Given the description of an element on the screen output the (x, y) to click on. 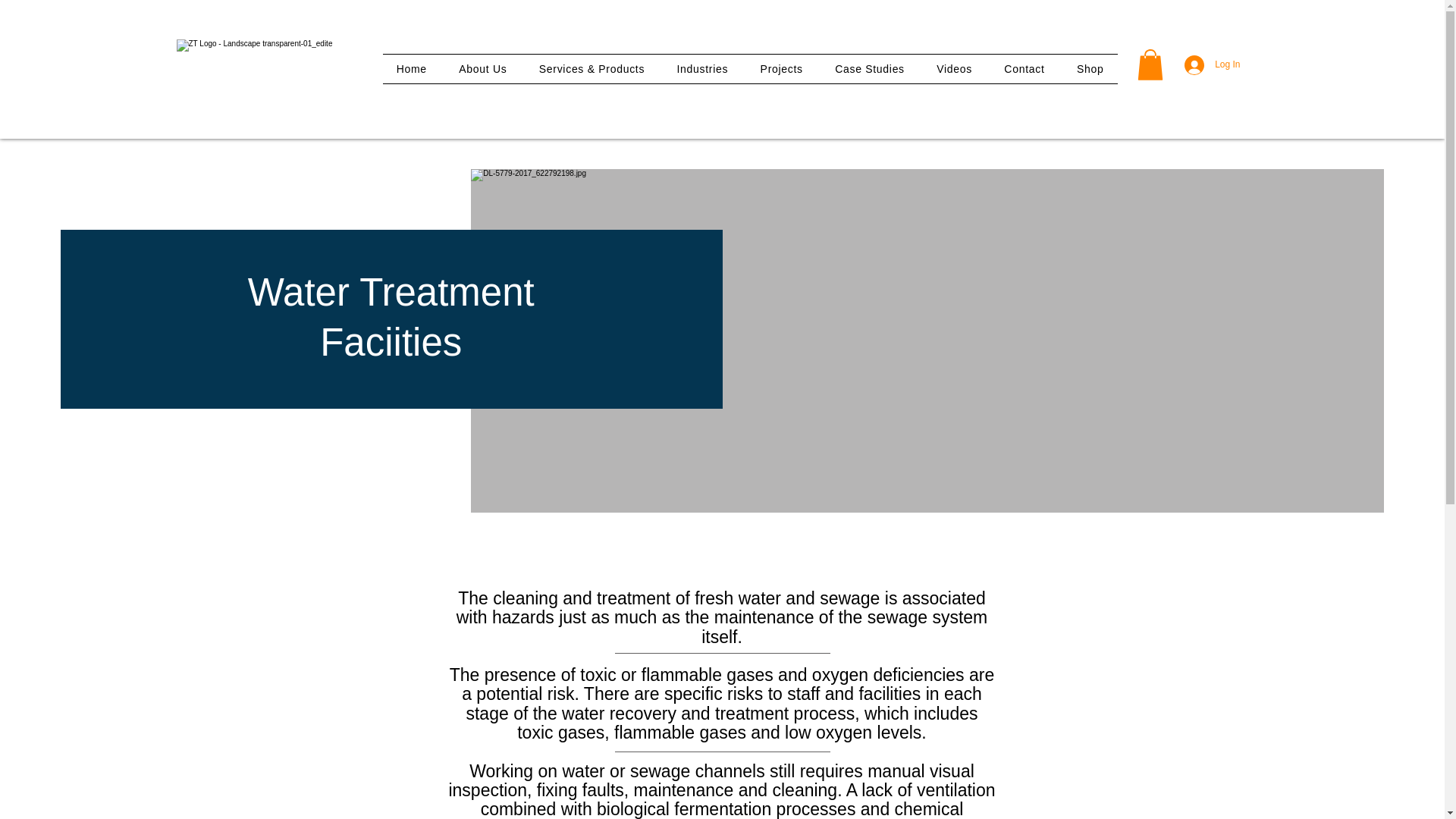
Home (412, 68)
About Us (482, 68)
Contact (1024, 68)
Log In (1211, 63)
Case Studies (869, 68)
Projects (780, 68)
Shop (1090, 68)
Videos (954, 68)
